Given the description of an element on the screen output the (x, y) to click on. 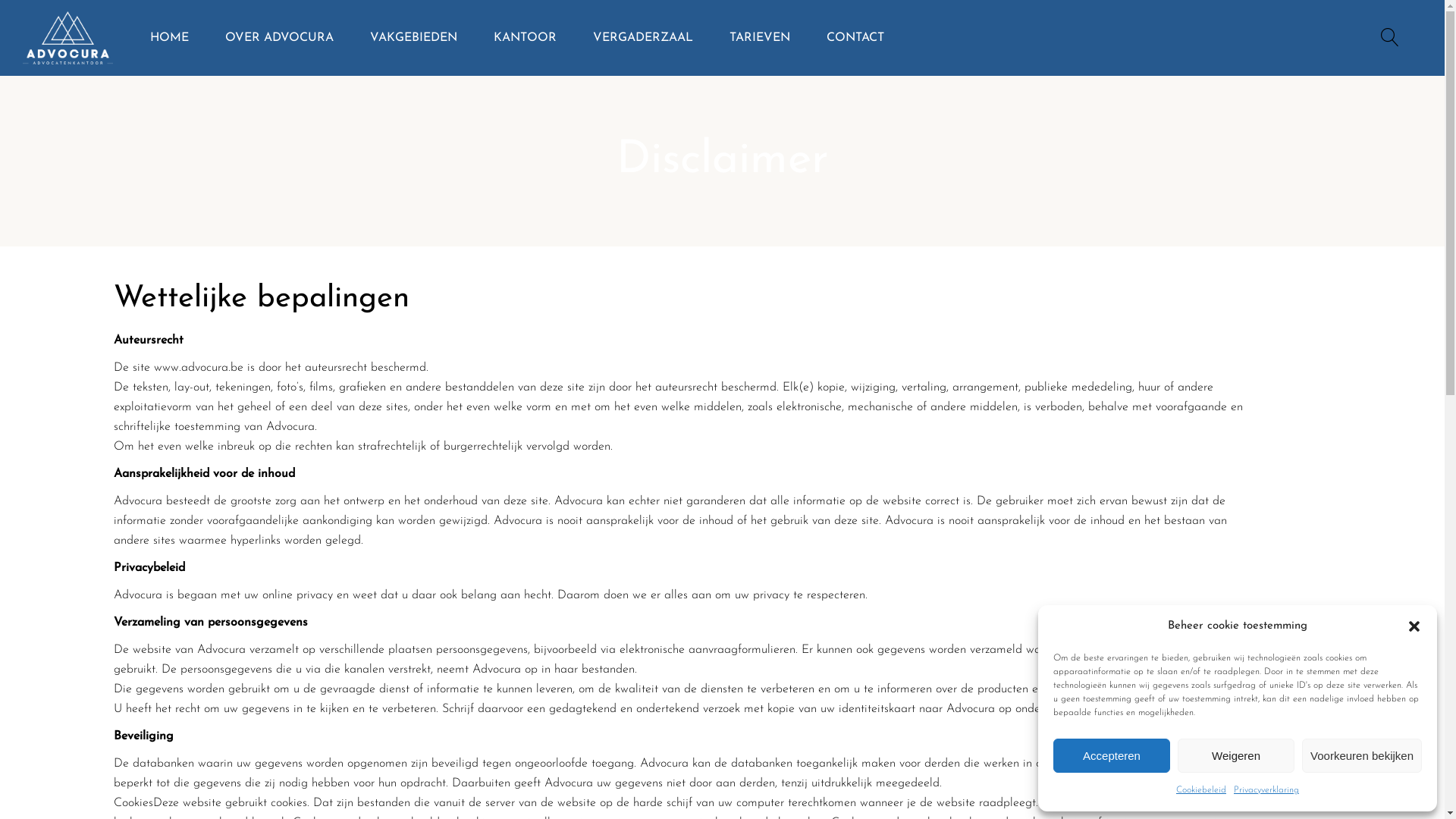
Privacyverklaring Element type: text (1266, 790)
OVER ADVOCURA Element type: text (279, 37)
HOME Element type: text (169, 37)
Cookiebeleid Element type: text (1201, 790)
Voorkeuren bekijken Element type: text (1361, 755)
KANTOOR Element type: text (524, 37)
Accepteren Element type: text (1111, 755)
VERGADERZAAL Element type: text (642, 37)
Weigeren Element type: text (1235, 755)
CONTACT Element type: text (855, 37)
TARIEVEN Element type: text (759, 37)
VAKGEBIEDEN Element type: text (413, 37)
